Given the description of an element on the screen output the (x, y) to click on. 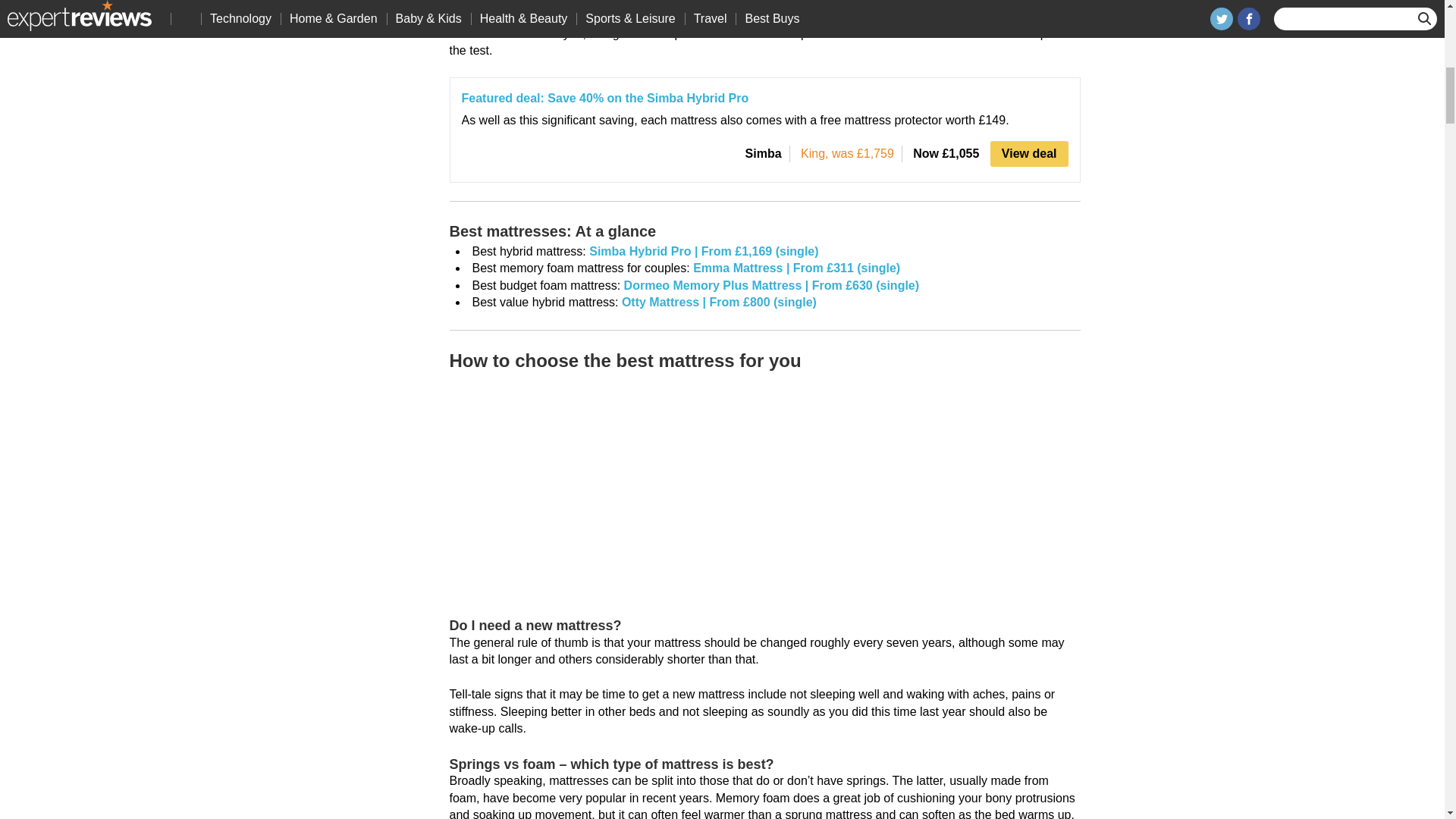
View deal (1029, 153)
How to choose the best mattress for you (638, 487)
Buy now from Emma (796, 267)
Buy now from Dormeo (771, 285)
Buy now from otty (718, 301)
